Given the description of an element on the screen output the (x, y) to click on. 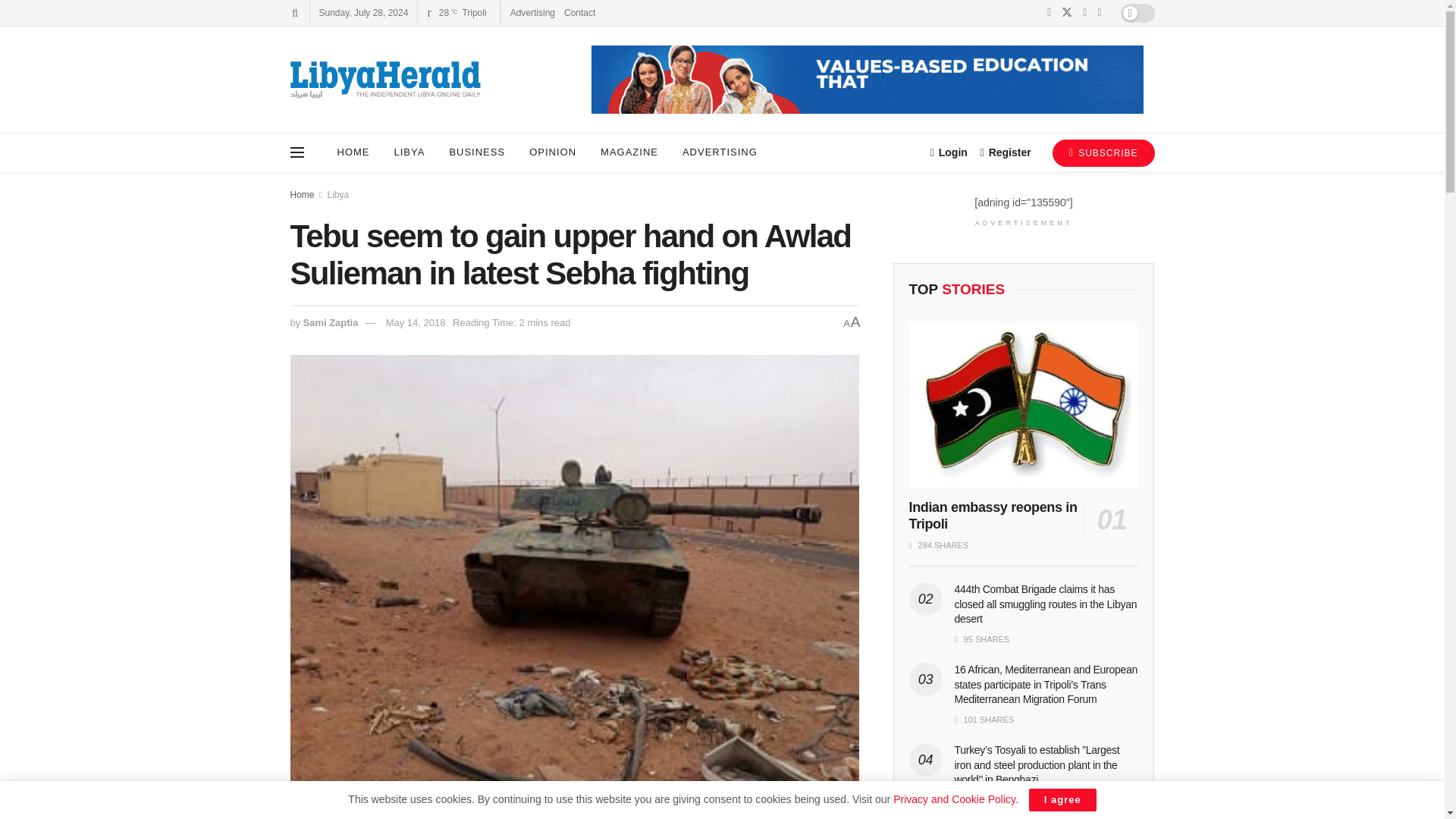
Libya (338, 194)
Contact (579, 12)
LIBYA (409, 152)
HOME (352, 152)
Sami Zaptia (330, 322)
Login (949, 152)
OPINION (552, 152)
Advertising (532, 12)
May 14, 2018 (415, 322)
Register (1004, 152)
Home (301, 194)
BUSINESS (476, 152)
ADVERTISING (719, 152)
SUBSCRIBE (1103, 153)
MAGAZINE (628, 152)
